Given the description of an element on the screen output the (x, y) to click on. 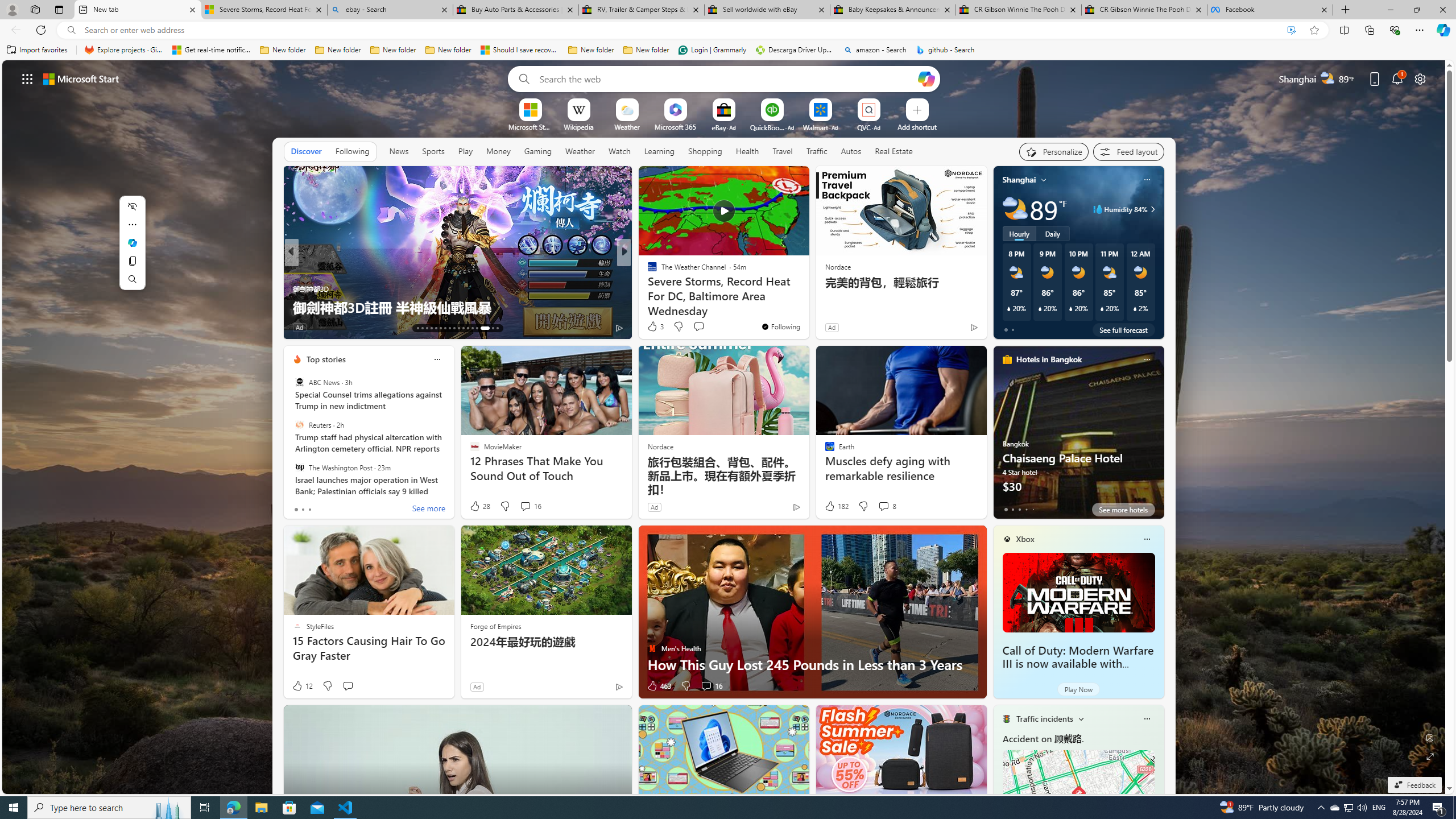
AutomationID: tab-19 (444, 328)
App launcher (27, 78)
Tab actions menu (58, 9)
Favorites bar (728, 49)
Autos (850, 151)
AutomationID: tab-13 (417, 328)
To get missing image descriptions, open the context menu. (529, 109)
AutomationID: tab-21 (454, 328)
AutomationID: backgroundImagePicture (723, 426)
tab-0 (1005, 509)
Microsoft start (81, 78)
Health (746, 151)
See more (795, 179)
Play Now (1078, 689)
AutomationID: tab-15 (426, 328)
